Given the description of an element on the screen output the (x, y) to click on. 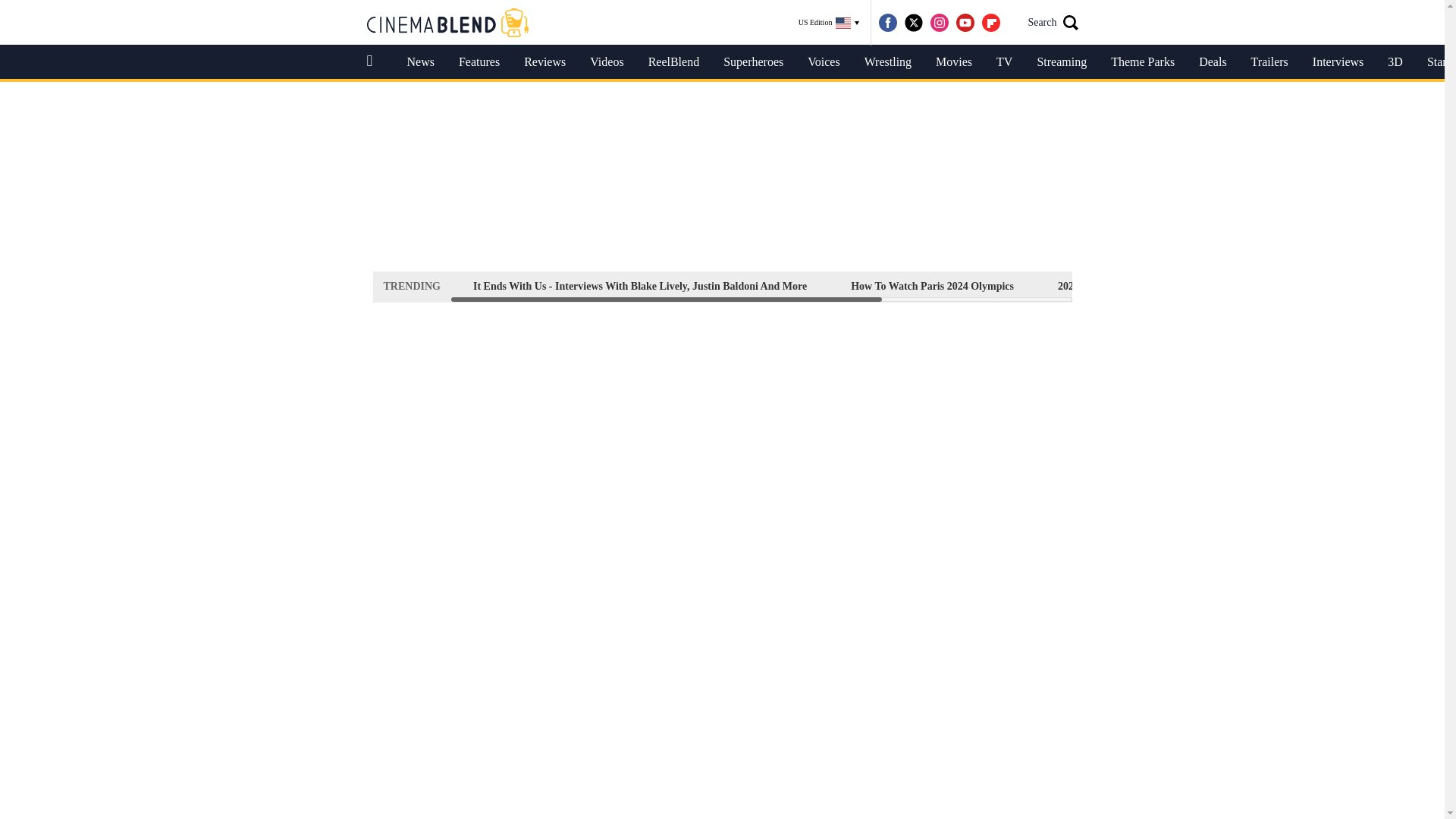
Upcoming Horror Movies (1265, 286)
Videos (606, 61)
Wrestling (887, 61)
Reviews (545, 61)
Movies (953, 61)
Theme Parks (1142, 61)
3D (1395, 61)
How To Watch Paris 2024 Olympics (932, 286)
News (419, 61)
